Given the description of an element on the screen output the (x, y) to click on. 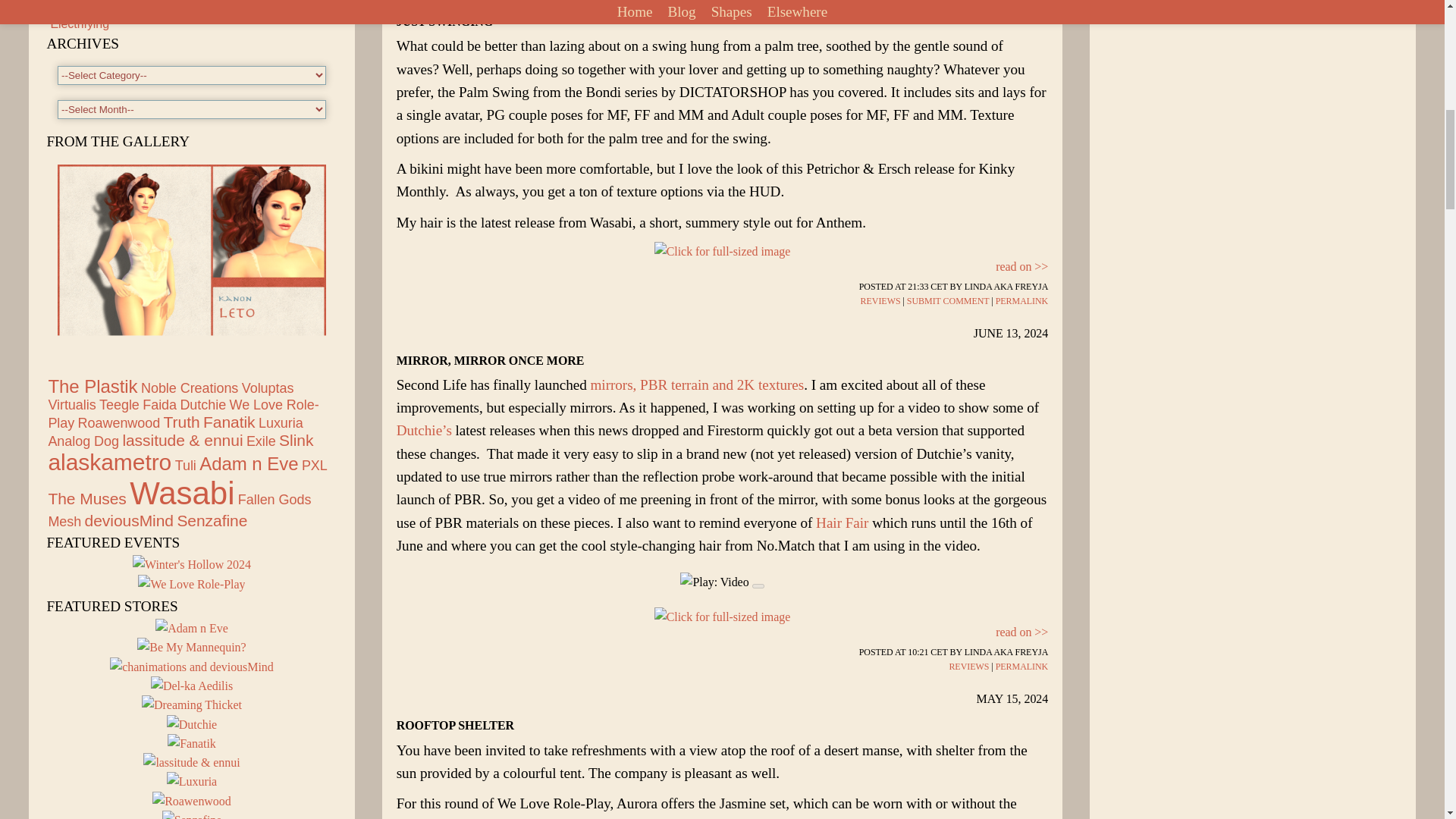
Analog Dog (83, 441)
Click for full-sized image (721, 251)
Noble Creations (189, 387)
Errand Girl (78, 1)
alaskametro (109, 462)
Senzafine (191, 814)
The Plastik (92, 385)
Teegle (119, 404)
Voluptas Virtualis (171, 396)
Dutchie (202, 404)
